Given the description of an element on the screen output the (x, y) to click on. 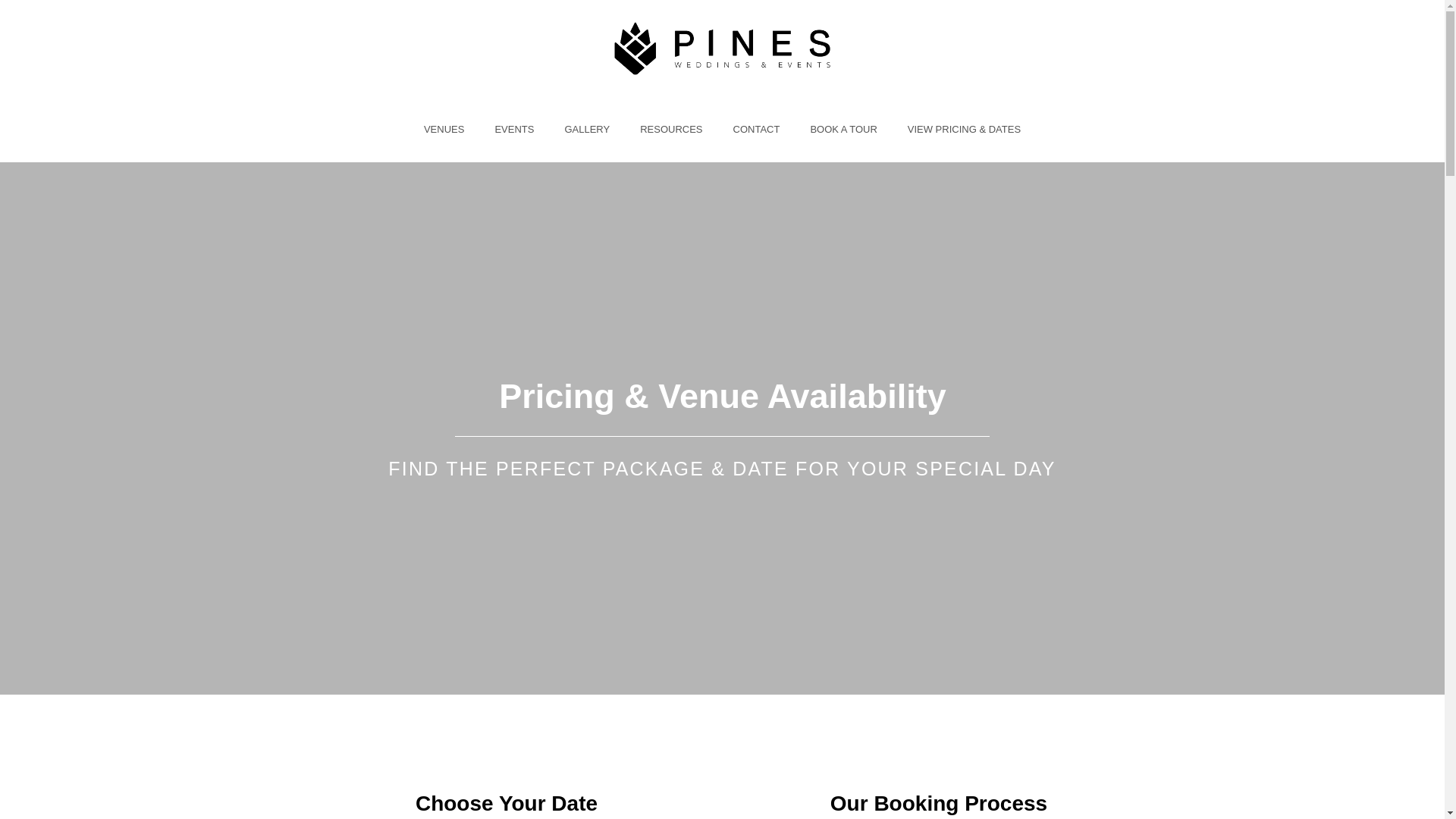
VENUES (444, 129)
EVENTS (513, 129)
GALLERY (586, 129)
RESOURCES (670, 129)
CONTACT (755, 129)
BOOK A TOUR (842, 129)
